Given the description of an element on the screen output the (x, y) to click on. 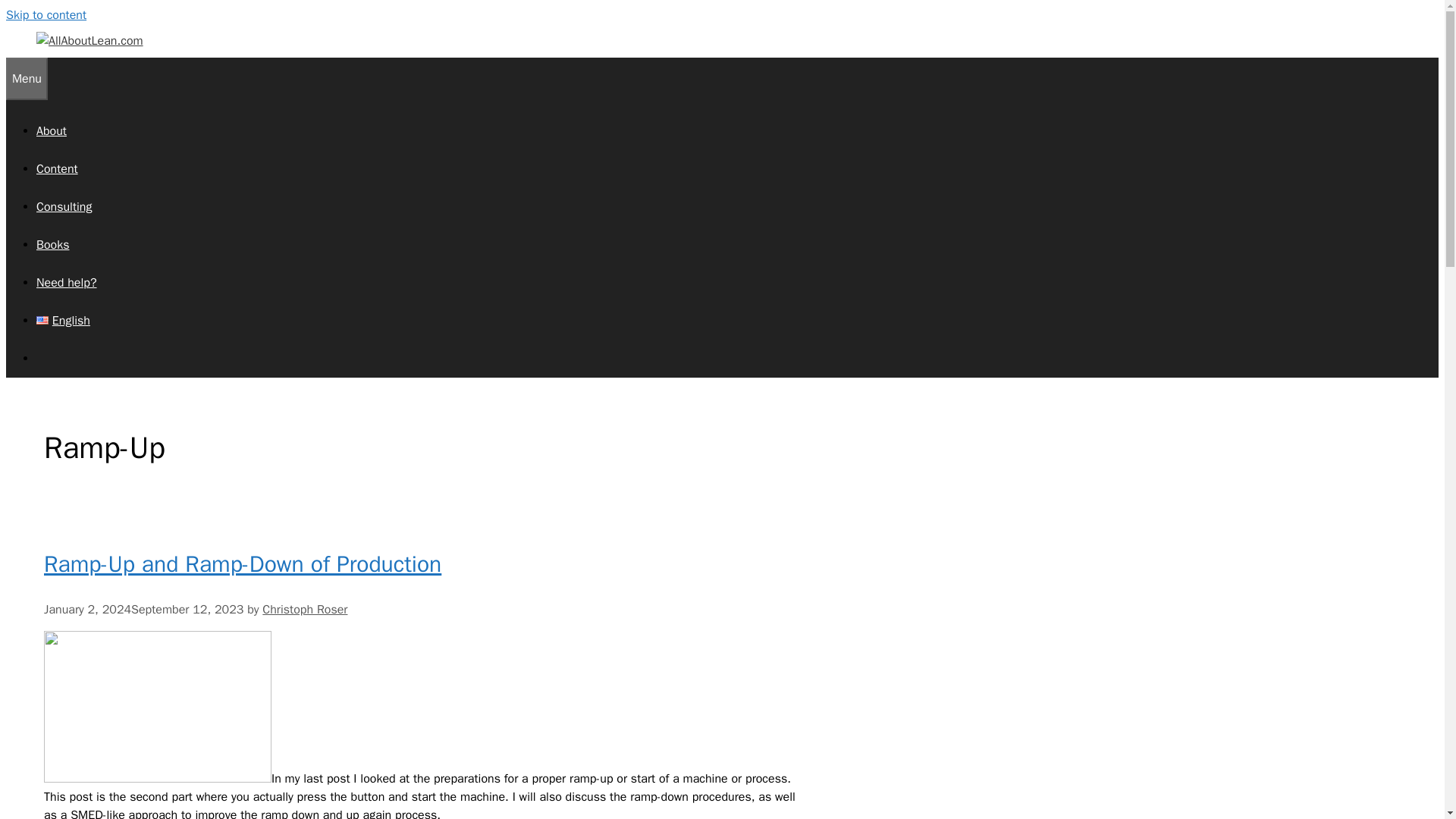
Skip to content (45, 14)
Christoph Roser (304, 609)
Menu (26, 78)
View all posts by Christoph Roser (304, 609)
English (63, 320)
Consulting (63, 206)
Ramp-Up and Ramp-Down of Production (242, 563)
About the blog content (51, 130)
Skip to content (45, 14)
Content (57, 168)
Need help? (66, 282)
About (51, 130)
Books (52, 244)
